Given the description of an element on the screen output the (x, y) to click on. 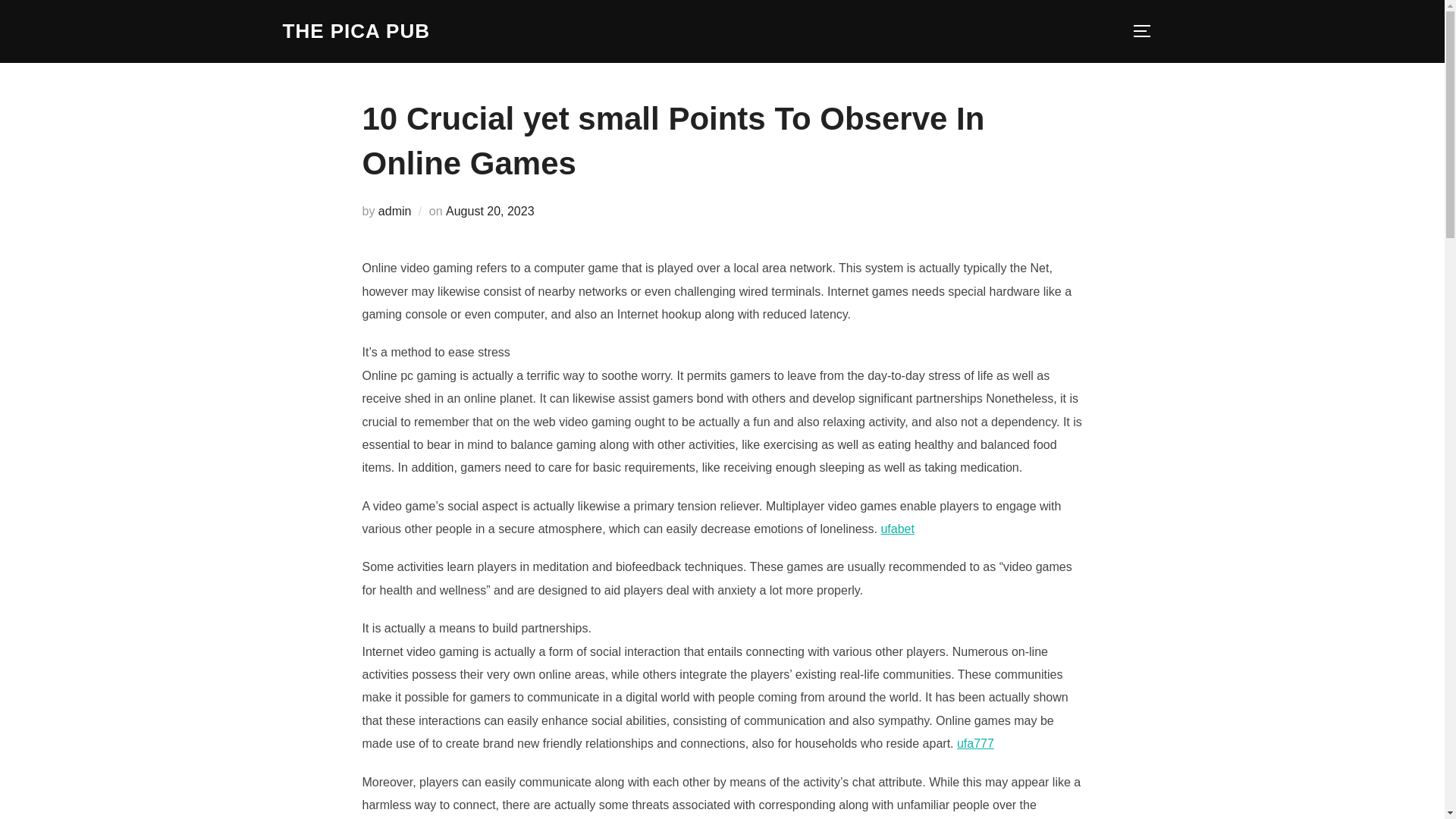
ufabet (897, 528)
THE PICA PUB (355, 31)
admin (395, 210)
August 20, 2023 (489, 210)
My WordPress Blog (355, 31)
ufa777 (975, 743)
